Given the description of an element on the screen output the (x, y) to click on. 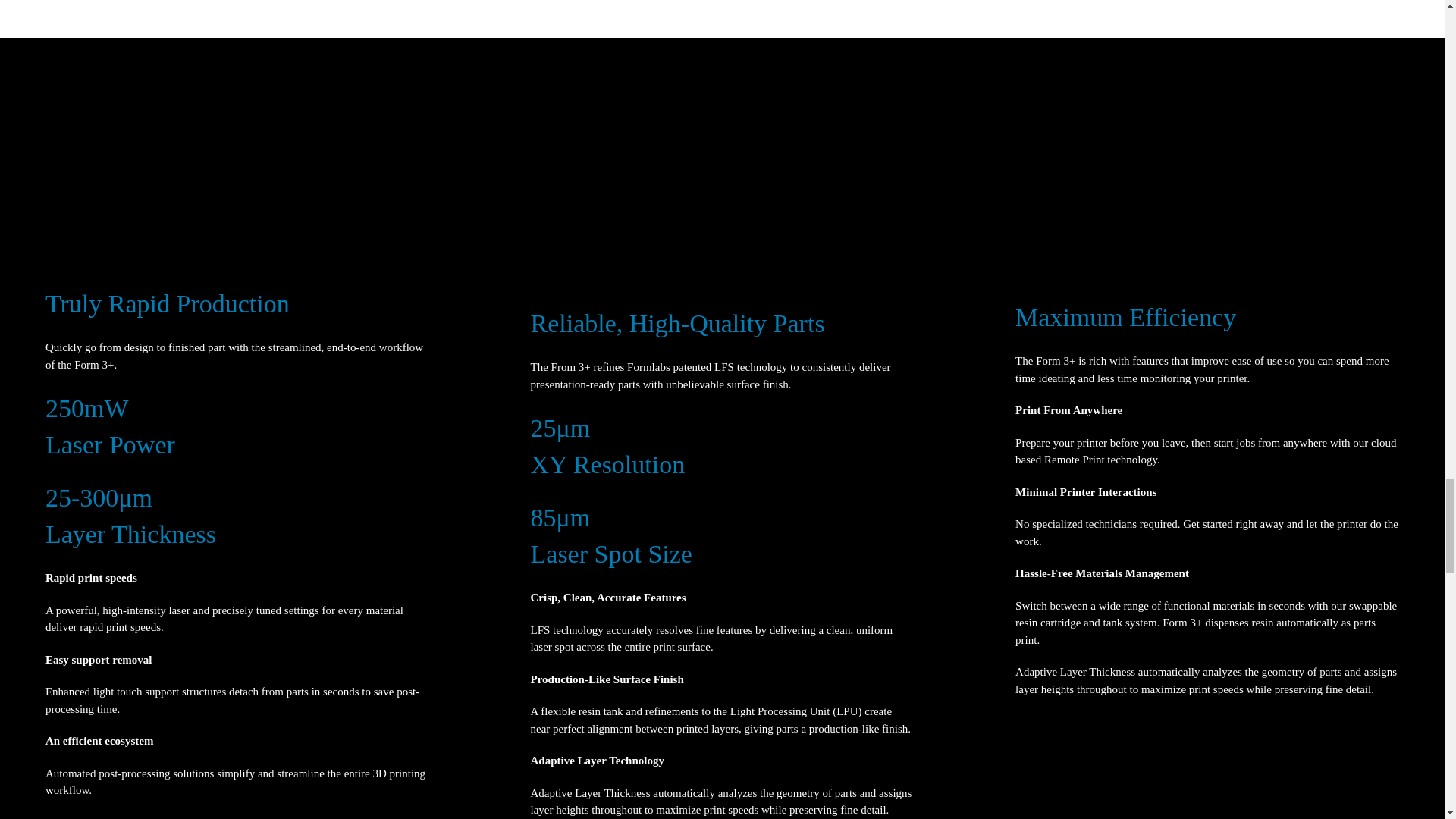
Formlabs-reliable (601, 219)
Formlabs-effeciency (1082, 216)
Formlabs-rapid (109, 209)
